Given the description of an element on the screen output the (x, y) to click on. 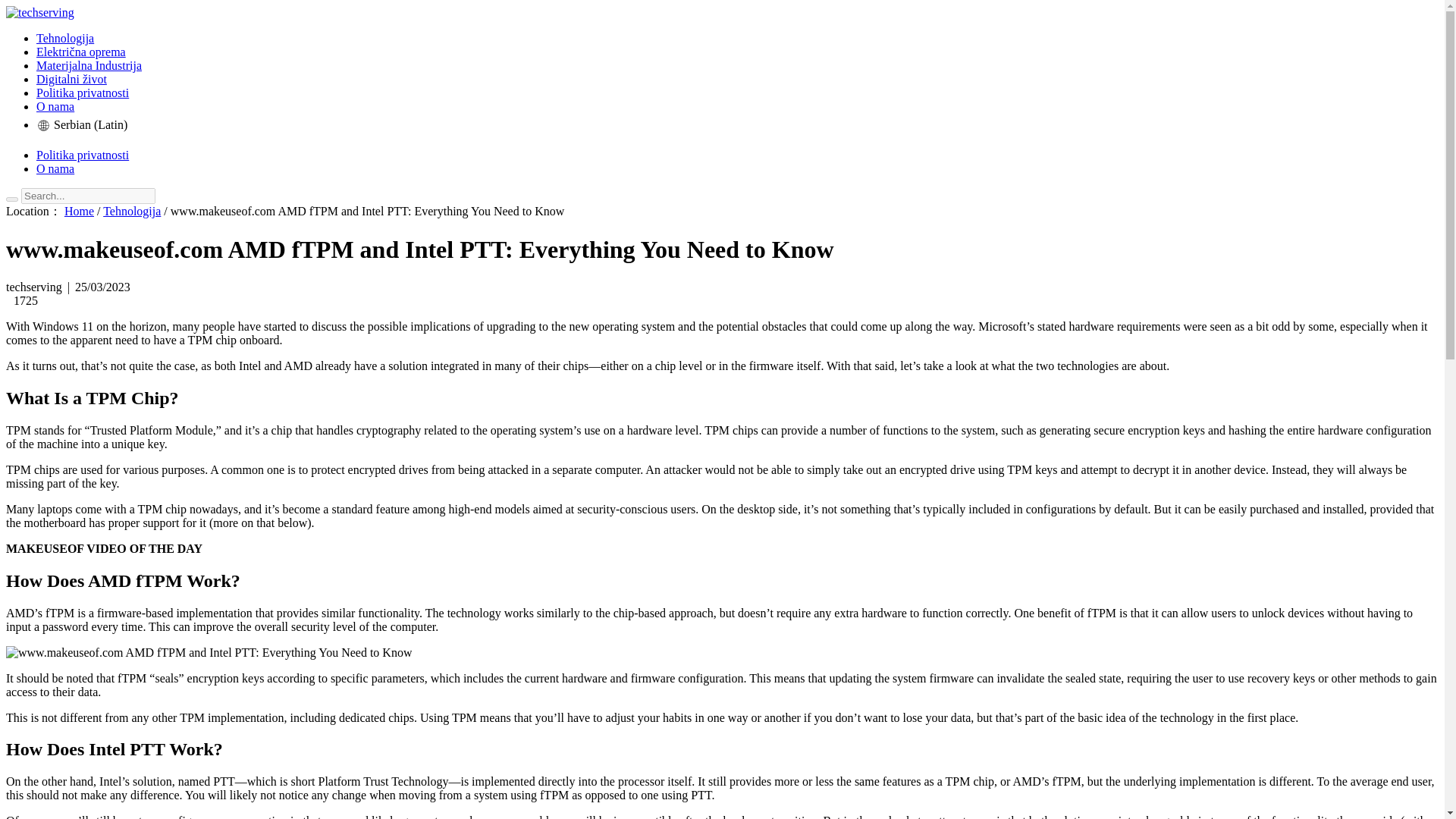
Materijalna Industrija (88, 65)
Tehnologija (131, 210)
O nama (55, 106)
O nama (55, 168)
Home (79, 210)
Tehnologija (65, 38)
Search... (88, 195)
O nama (55, 168)
techserving (39, 12)
techserving (39, 11)
Politika privatnosti (82, 92)
Materijalna Industrija (88, 65)
Tehnologija (65, 38)
O nama (55, 106)
